Given the description of an element on the screen output the (x, y) to click on. 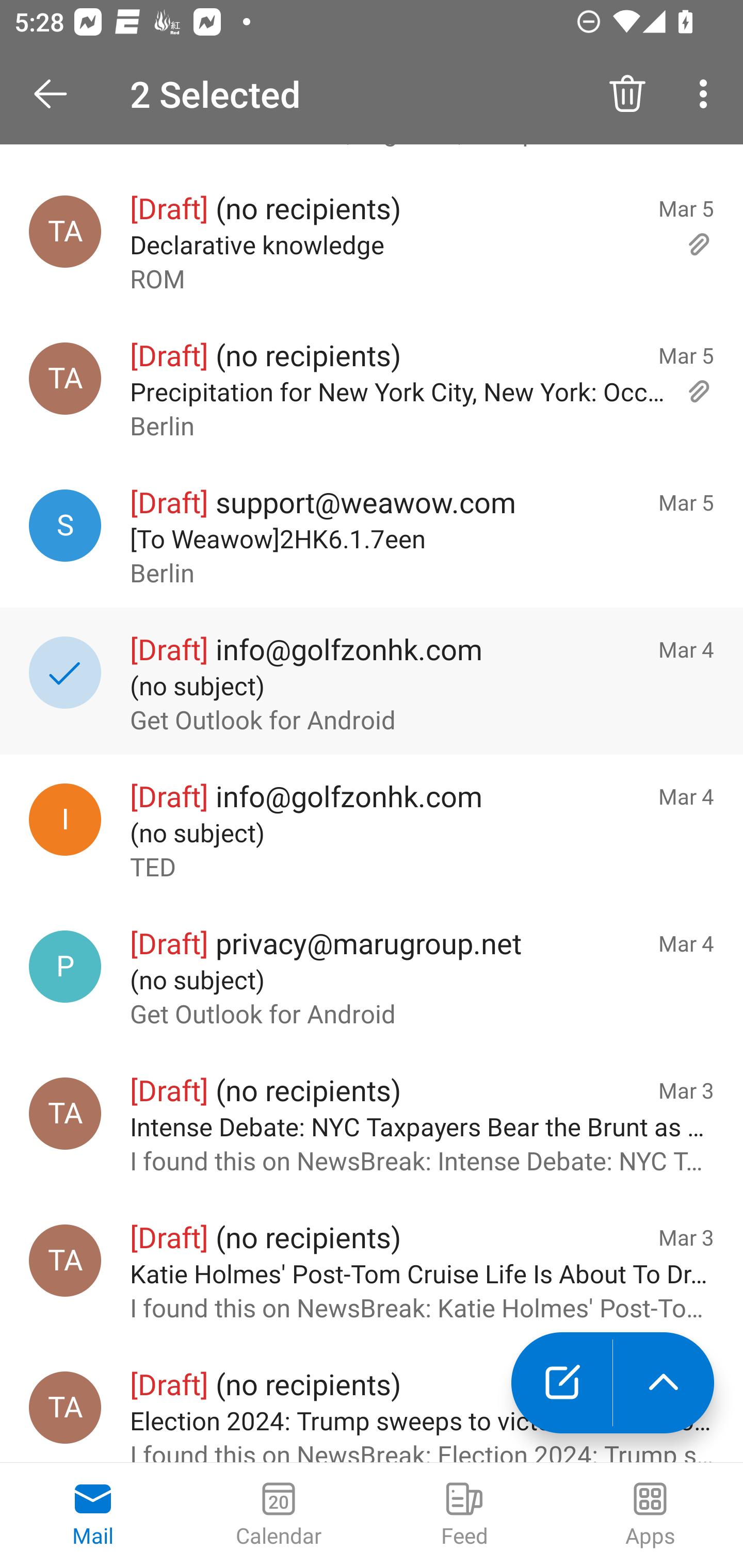
Delete (626, 93)
More options (706, 93)
Open Navigation Drawer (57, 94)
Test Appium, testappium002@outlook.com (64, 232)
Test Appium, testappium002@outlook.com (64, 377)
support@weawow.com (64, 525)
info@golfzonhk.com (64, 820)
privacy@marugroup.net (64, 965)
Test Appium, testappium002@outlook.com (64, 1113)
Test Appium, testappium002@outlook.com (64, 1260)
New mail (561, 1382)
launch the extended action menu (663, 1382)
Test Appium, testappium002@outlook.com (64, 1408)
Calendar (278, 1515)
Feed (464, 1515)
Apps (650, 1515)
